Given the description of an element on the screen output the (x, y) to click on. 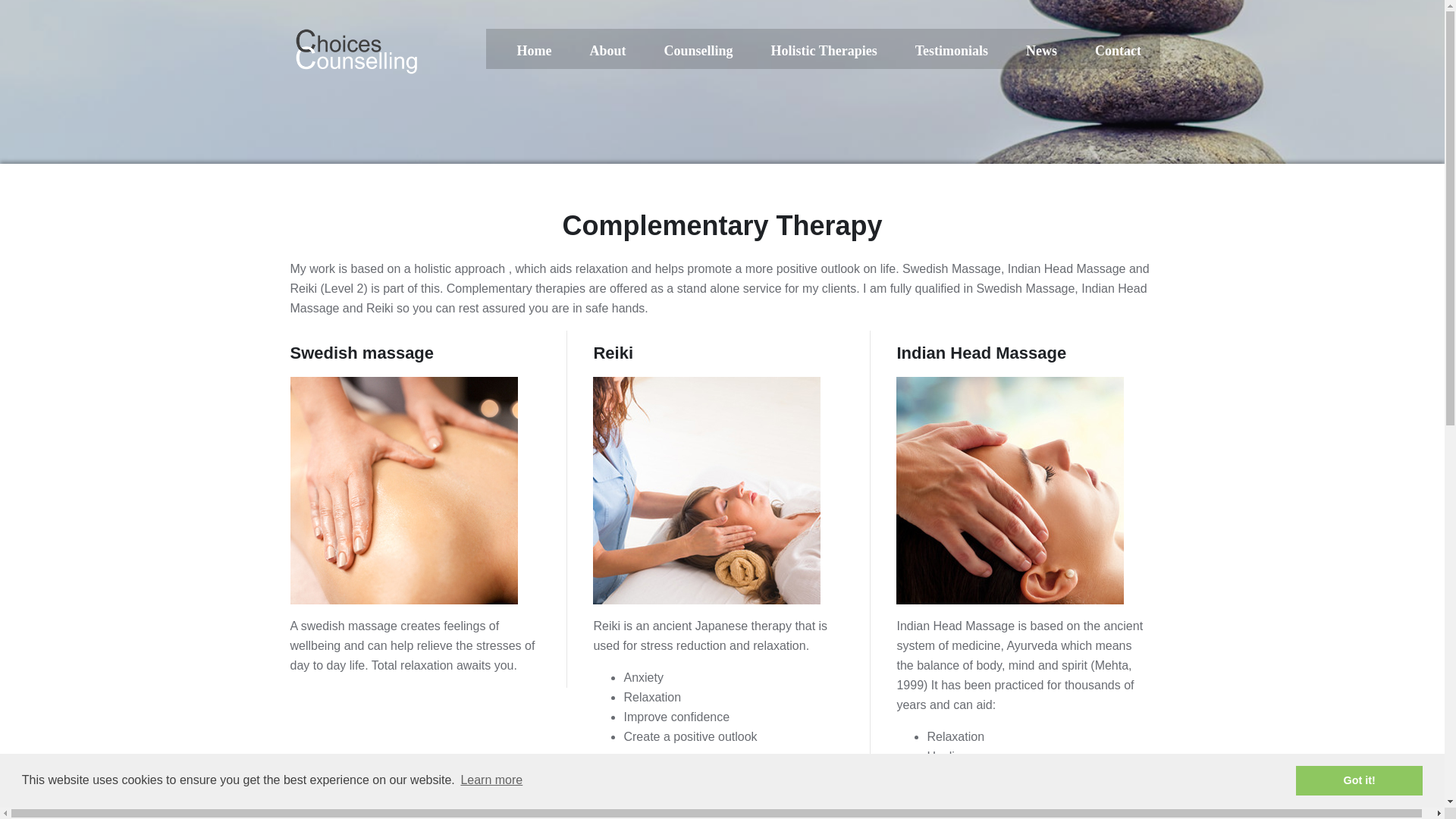
Contact (1117, 50)
Holistic Therapies (823, 50)
Got it! (1358, 780)
Testimonials (951, 50)
Home (533, 50)
Counselling (697, 50)
Learn more (491, 780)
About (607, 50)
News (1041, 50)
